Given the description of an element on the screen output the (x, y) to click on. 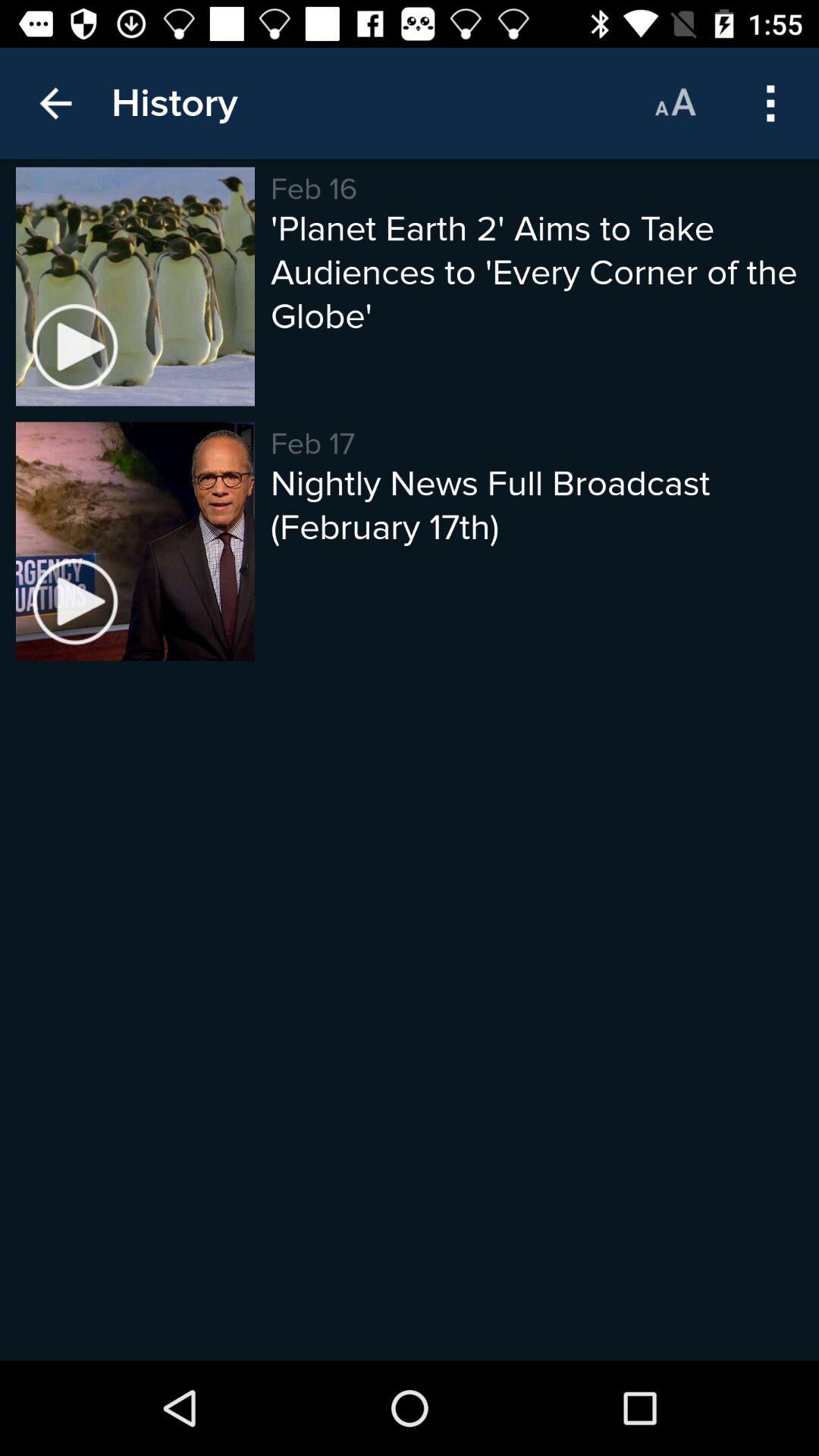
select icon above planet earth 2 icon (770, 103)
